Given the description of an element on the screen output the (x, y) to click on. 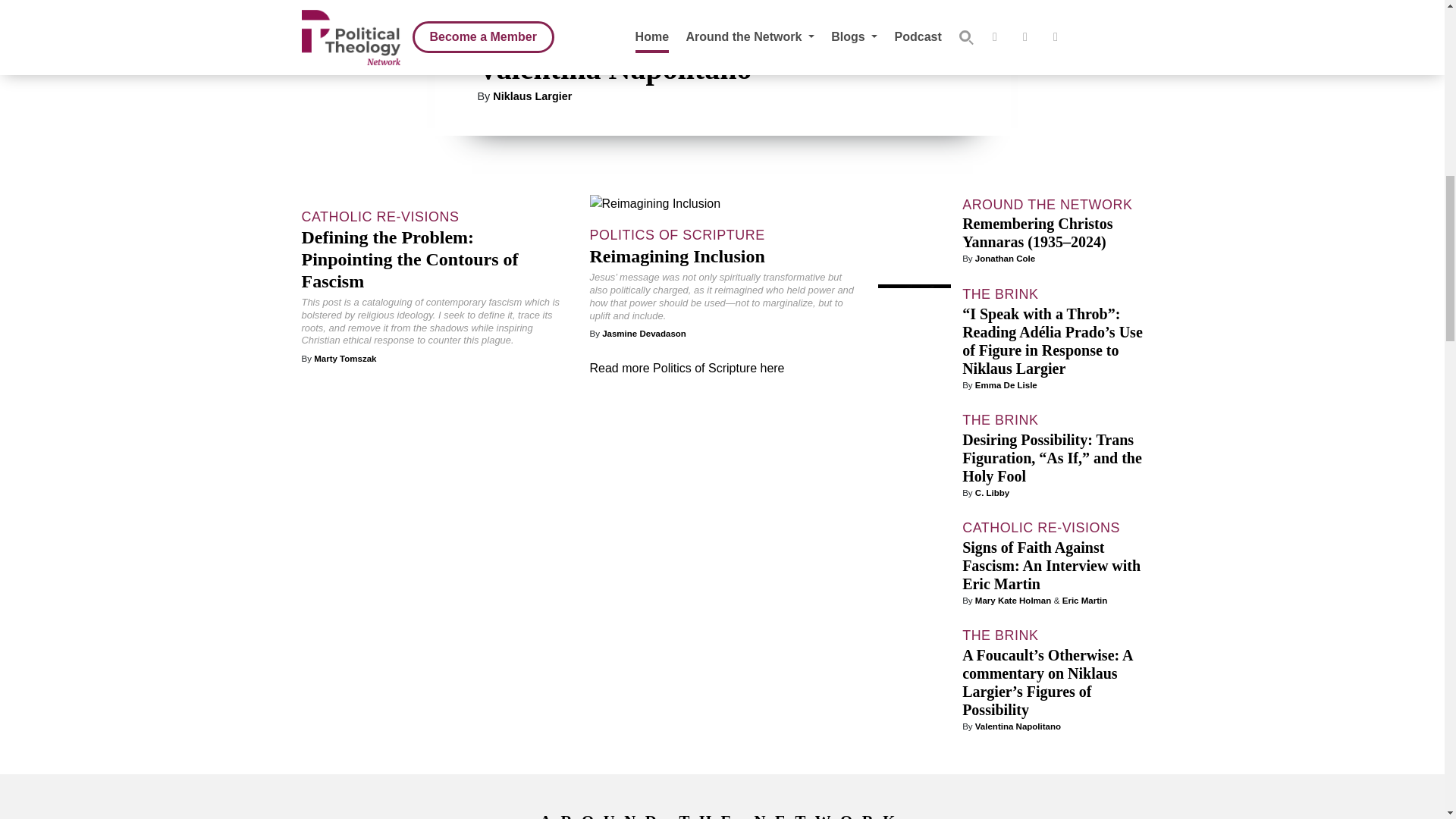
POLITICS OF SCRIPTURE (677, 234)
Niklaus Largier (532, 96)
AROUND THE NETWORK (1047, 204)
Marty Tomszak (344, 358)
Defining the Problem: Pinpointing the Contours of Fascism (409, 259)
CATHOLIC RE-VISIONS (380, 216)
Read more Politics of Scripture here (686, 367)
Jasmine Devadason (643, 333)
Reimagining Inclusion (677, 256)
